Given the description of an element on the screen output the (x, y) to click on. 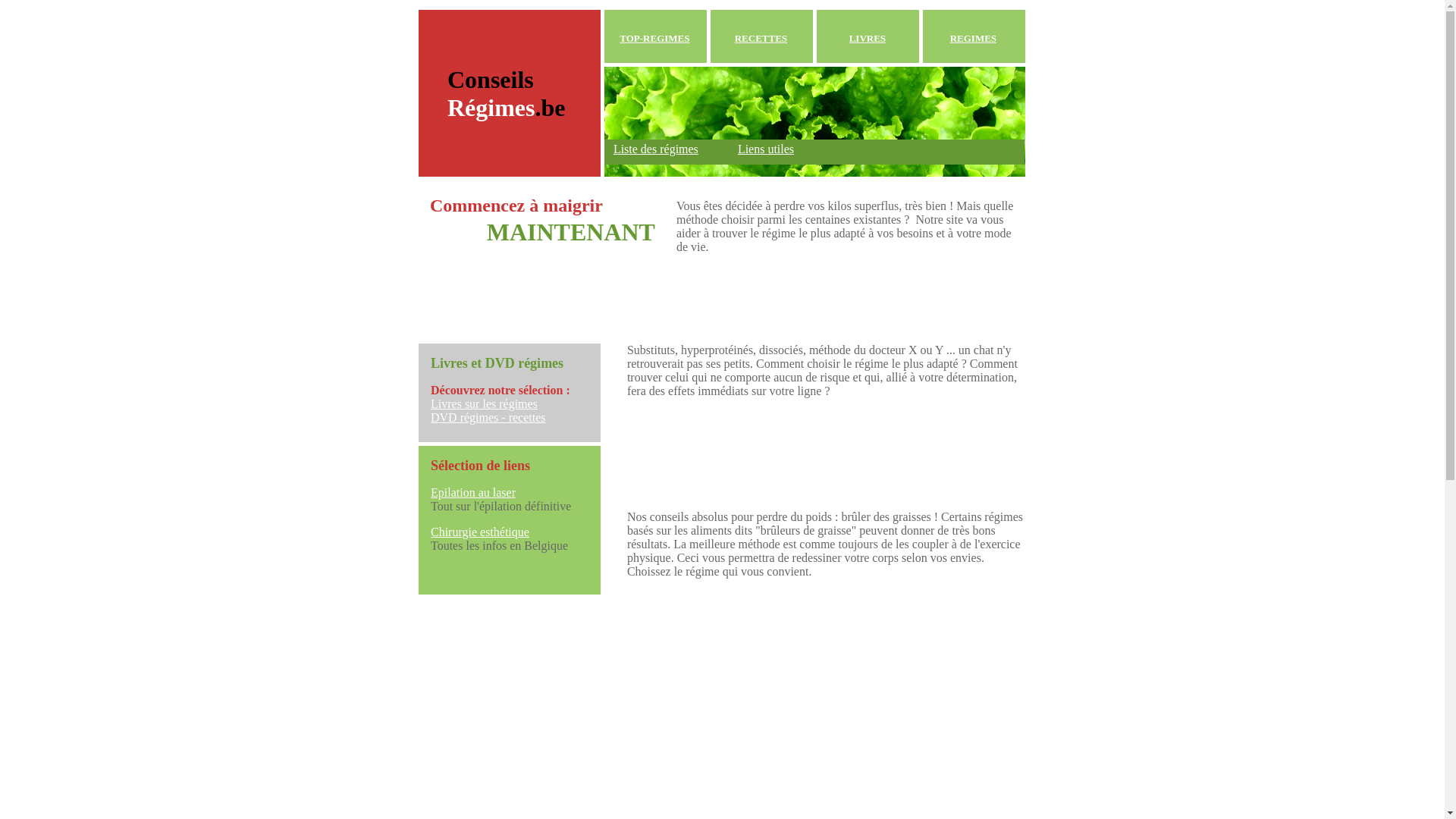
Epilation au laser Element type: text (472, 492)
RECETTES Element type: text (760, 37)
LIVRES Element type: text (867, 37)
Liens utiles Element type: text (765, 148)
Advertisement Element type: hover (747, 639)
Advertisement Element type: hover (804, 432)
Advertisement Element type: hover (747, 294)
REGIMES Element type: text (973, 37)
TOP-REGIMES Element type: text (654, 37)
